Given the description of an element on the screen output the (x, y) to click on. 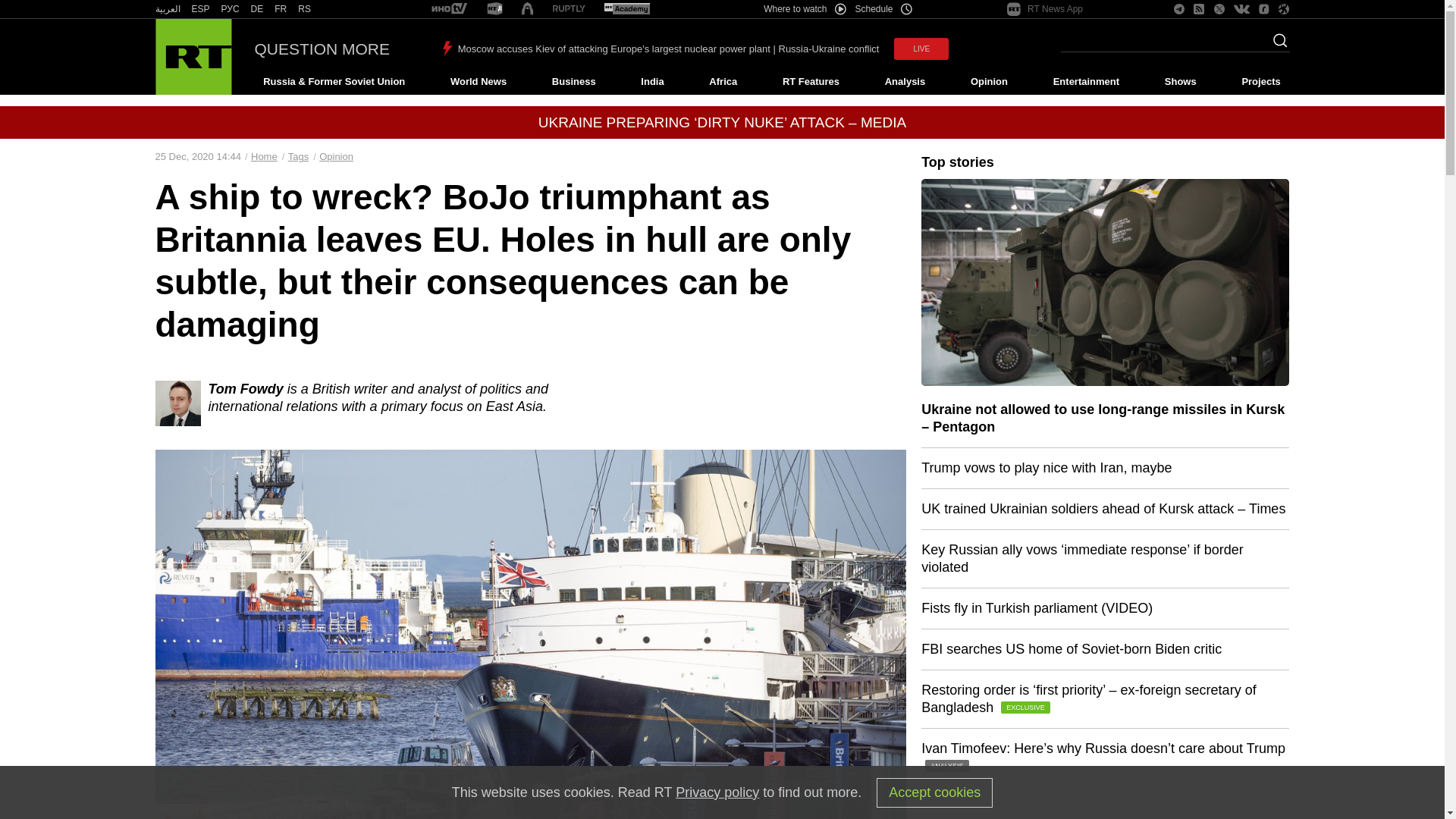
FR (280, 9)
ESP (199, 9)
Projects (1261, 81)
Africa (722, 81)
RT  (569, 8)
World News (478, 81)
RT News App (1045, 9)
RT Features (810, 81)
Search (1276, 44)
Shows (1180, 81)
